Given the description of an element on the screen output the (x, y) to click on. 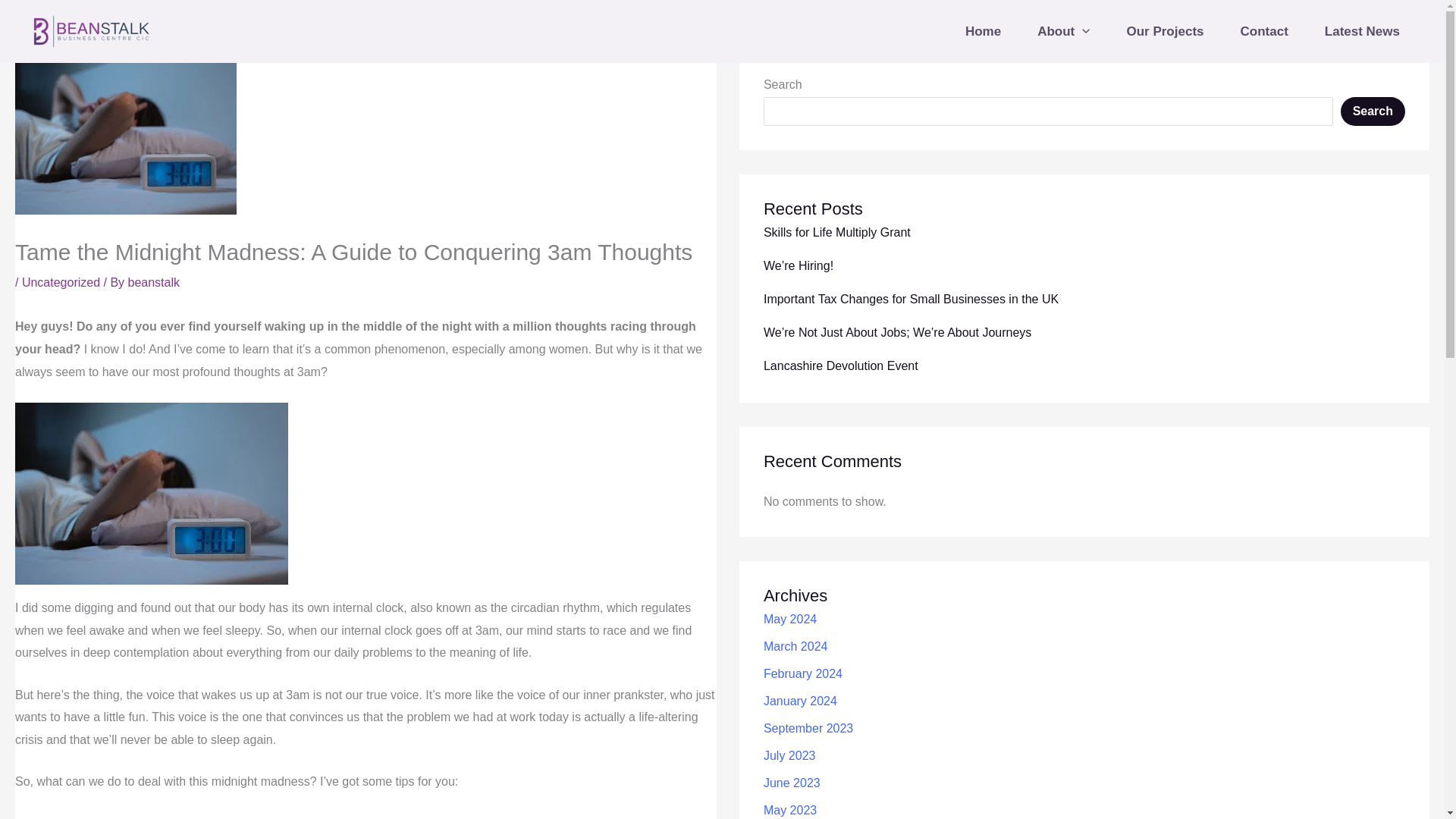
About (1063, 30)
Skills for Life Multiply Grant (836, 232)
September 2023 (807, 727)
beanstalk (154, 282)
January 2024 (799, 700)
Contact (1264, 30)
Our Projects (1164, 30)
View all posts by beanstalk (154, 282)
Uncategorized (60, 282)
Home (983, 30)
March 2024 (795, 645)
Latest News (1362, 30)
February 2024 (802, 673)
Lancashire Devolution Event (840, 365)
Search (1372, 111)
